Given the description of an element on the screen output the (x, y) to click on. 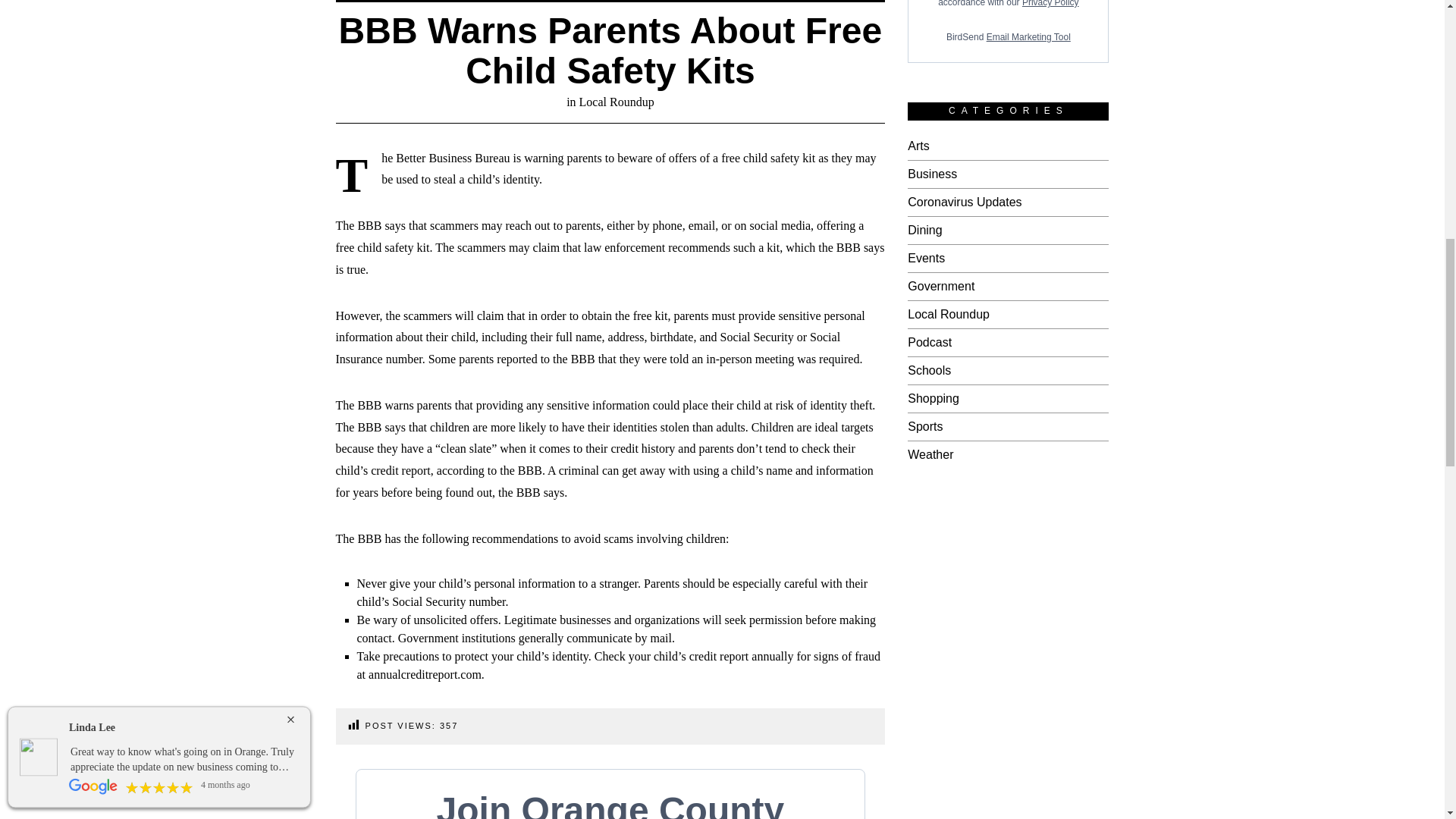
Events (925, 257)
Dining (924, 229)
Government (940, 286)
Weather (930, 454)
Coronavirus Updates (964, 201)
Local Roundup (616, 101)
Podcast (929, 341)
Shopping (933, 398)
Arts (917, 145)
Schools (928, 369)
Business (931, 173)
Privacy Policy (1050, 3)
Sports (924, 426)
Email Marketing Tool (1028, 36)
Local Roundup (948, 314)
